Given the description of an element on the screen output the (x, y) to click on. 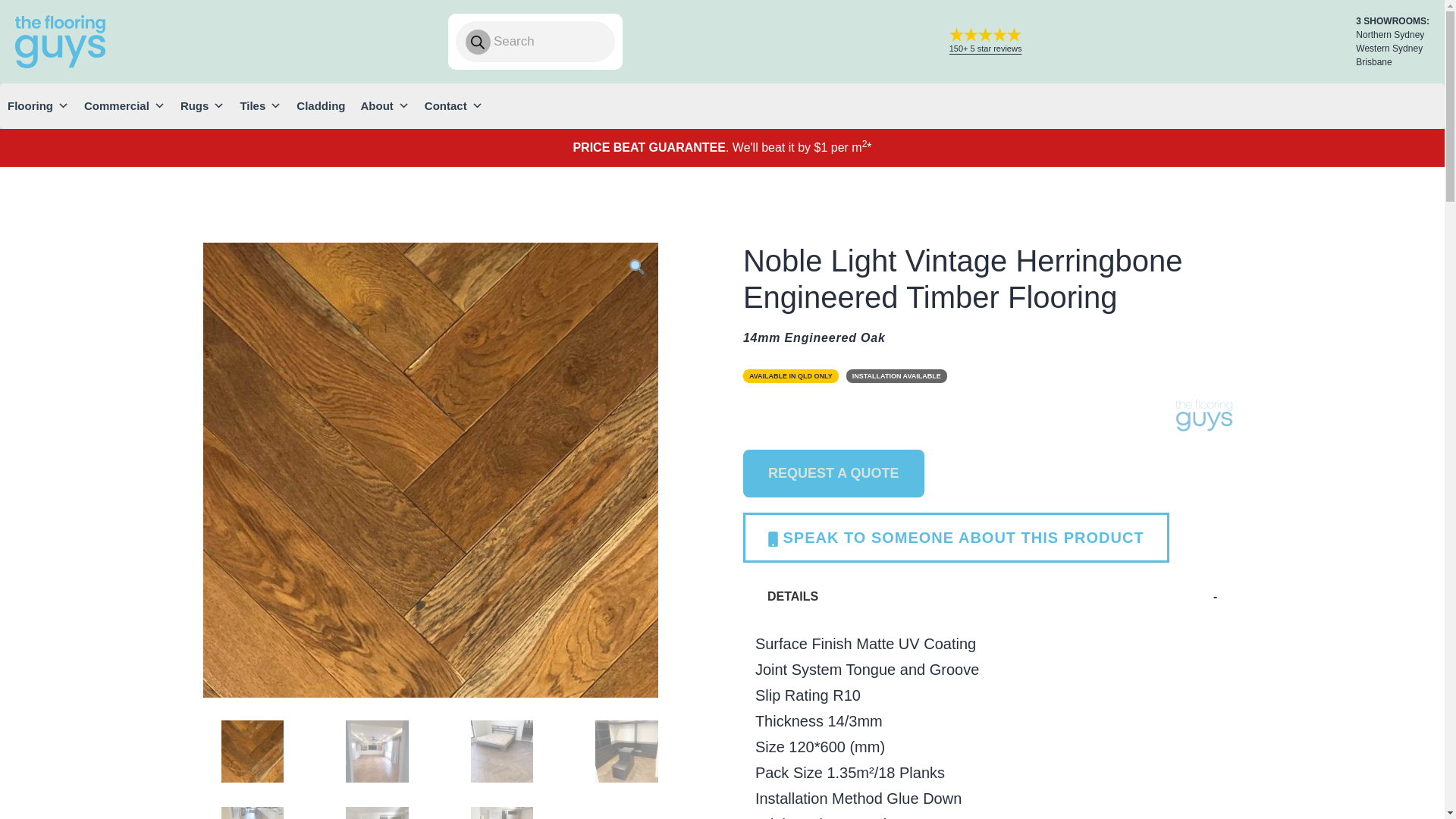
Flooring (38, 105)
